Given the description of an element on the screen output the (x, y) to click on. 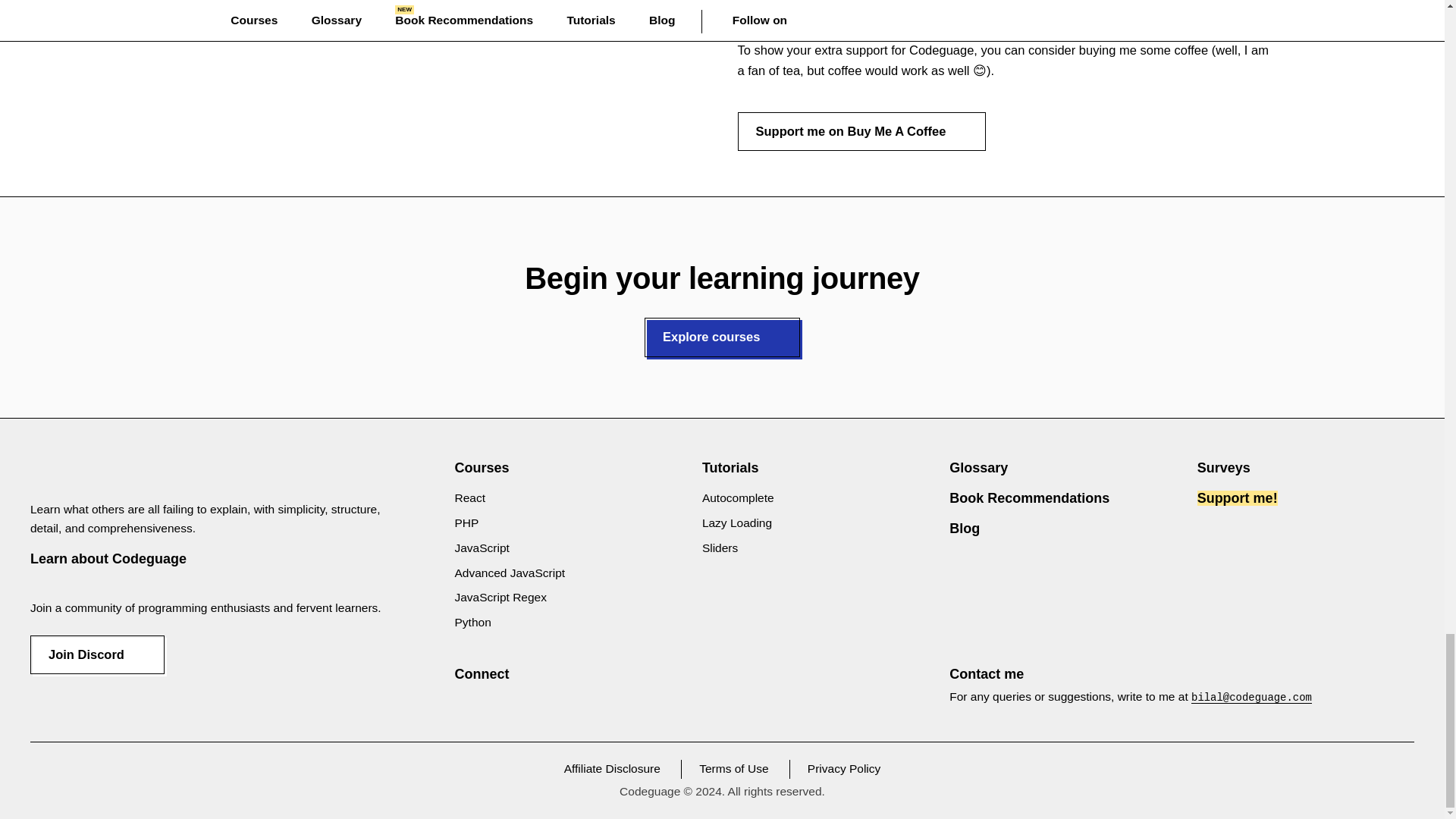
Sliders (719, 547)
Tutorials (729, 467)
Explore courses (722, 337)
Python (473, 621)
Surveys (1223, 467)
Glossary (978, 467)
Support me on Buy Me A Coffee (860, 131)
Autocomplete (737, 497)
Affiliate Disclosure (612, 768)
Blog (964, 528)
